Given the description of an element on the screen output the (x, y) to click on. 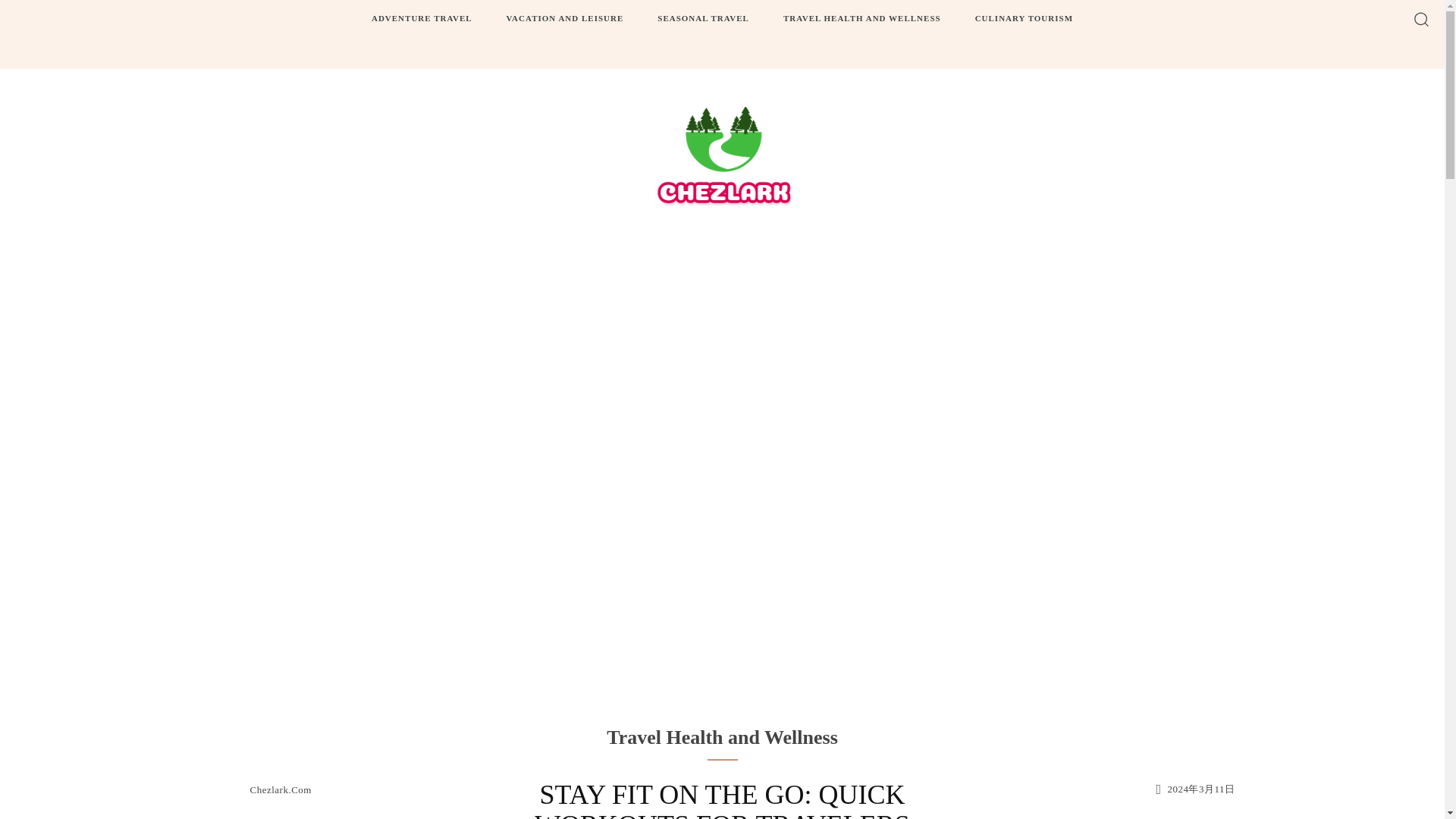
CULINARY TOURISM (1024, 18)
TRAVEL HEALTH AND WELLNESS (862, 18)
SEASONAL TRAVEL (703, 18)
VACATION AND LEISURE (565, 18)
Chezlark.Com (280, 789)
Travel Health and Wellness (721, 737)
chezlark.com (228, 788)
ADVENTURE TRAVEL (422, 18)
